Given the description of an element on the screen output the (x, y) to click on. 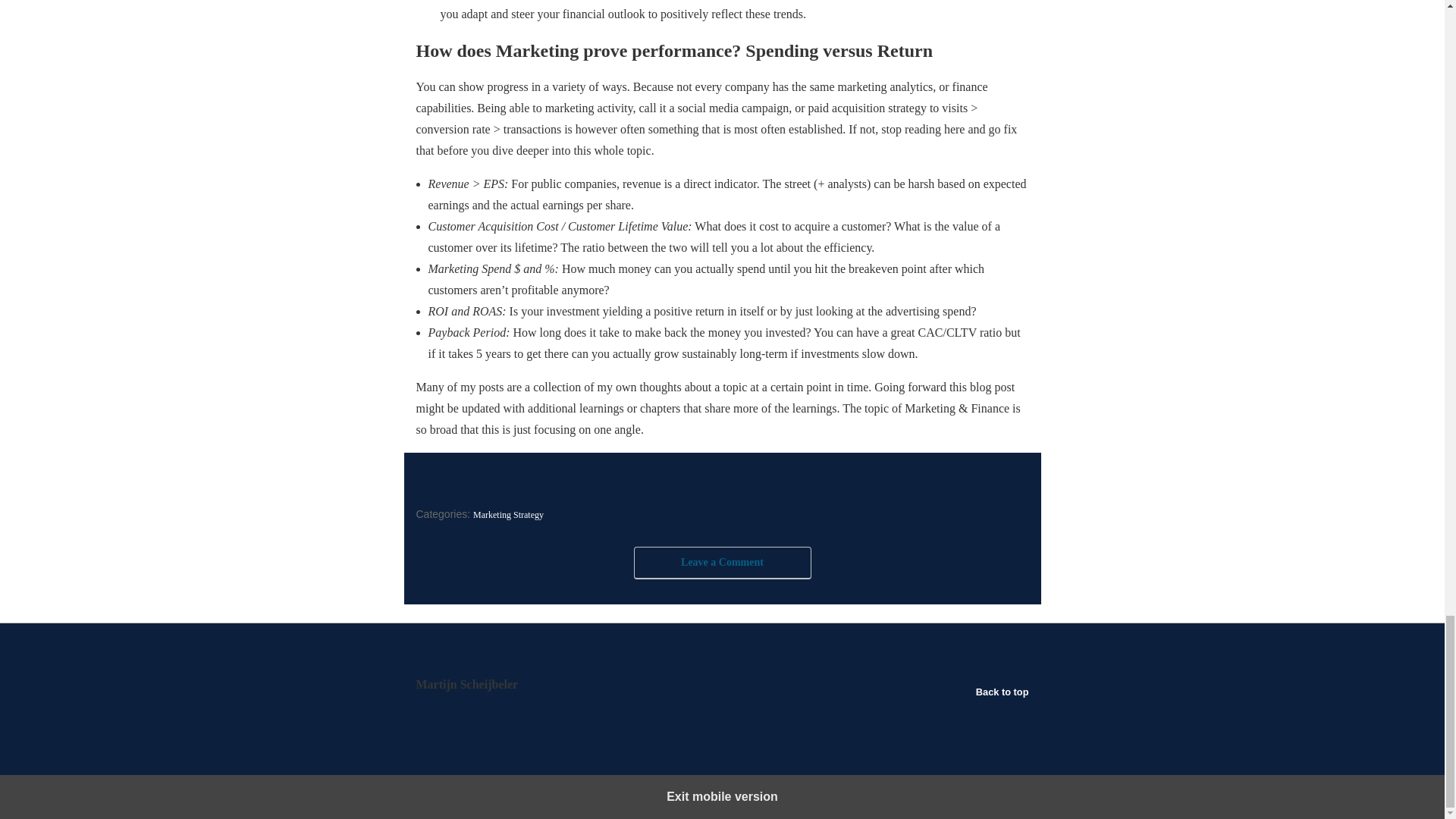
Leave a Comment (721, 563)
Marketing Strategy (508, 514)
Back to top (1002, 691)
